Given the description of an element on the screen output the (x, y) to click on. 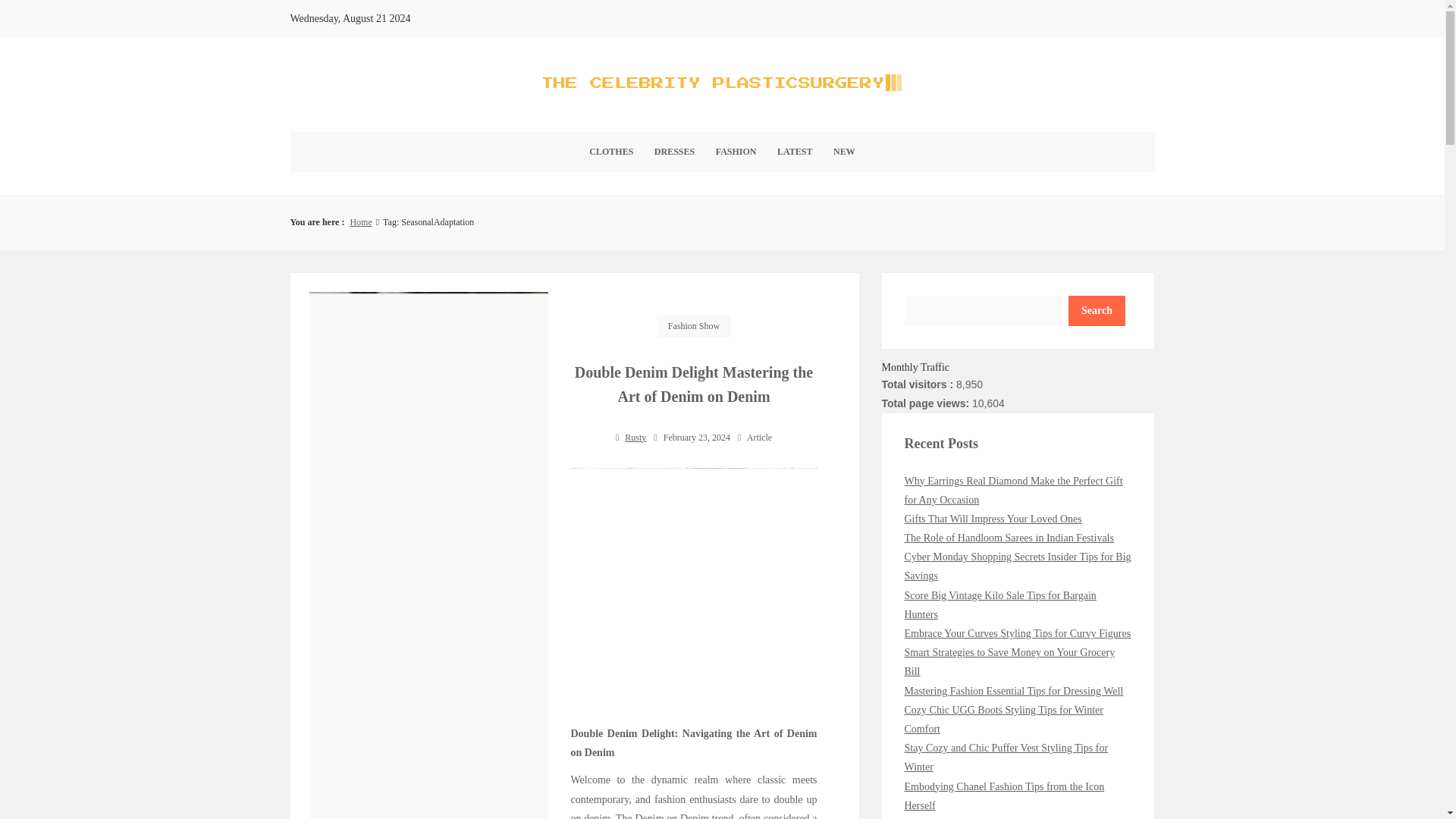
Double Denim Delight Mastering the Art of Denim on Denim (693, 590)
CLOTHES (610, 151)
Search (1096, 310)
Posts by Rusty (635, 437)
